Given the description of an element on the screen output the (x, y) to click on. 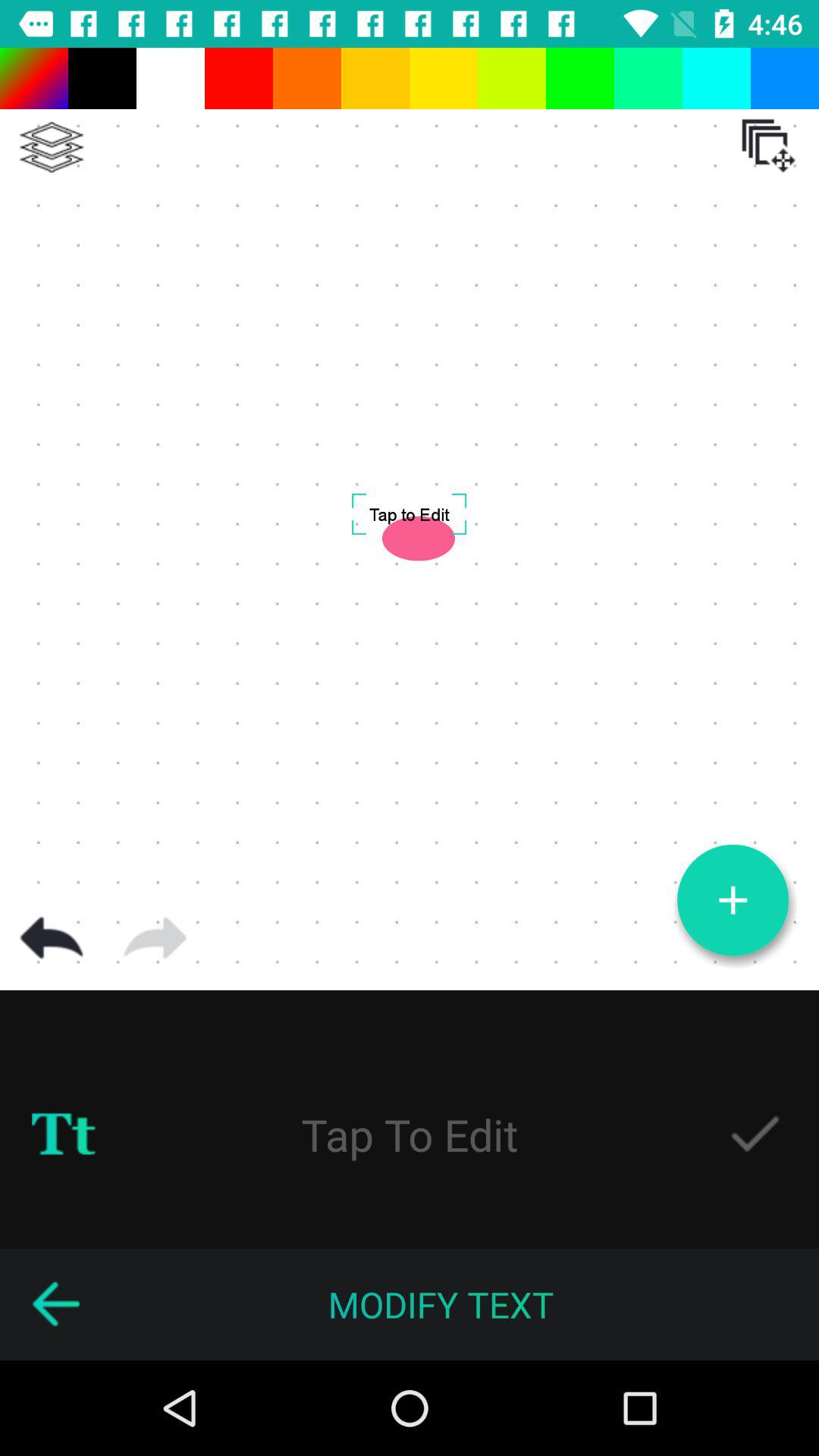
lets you create powerful branding for your business in a matter of minutes (51, 147)
